Given the description of an element on the screen output the (x, y) to click on. 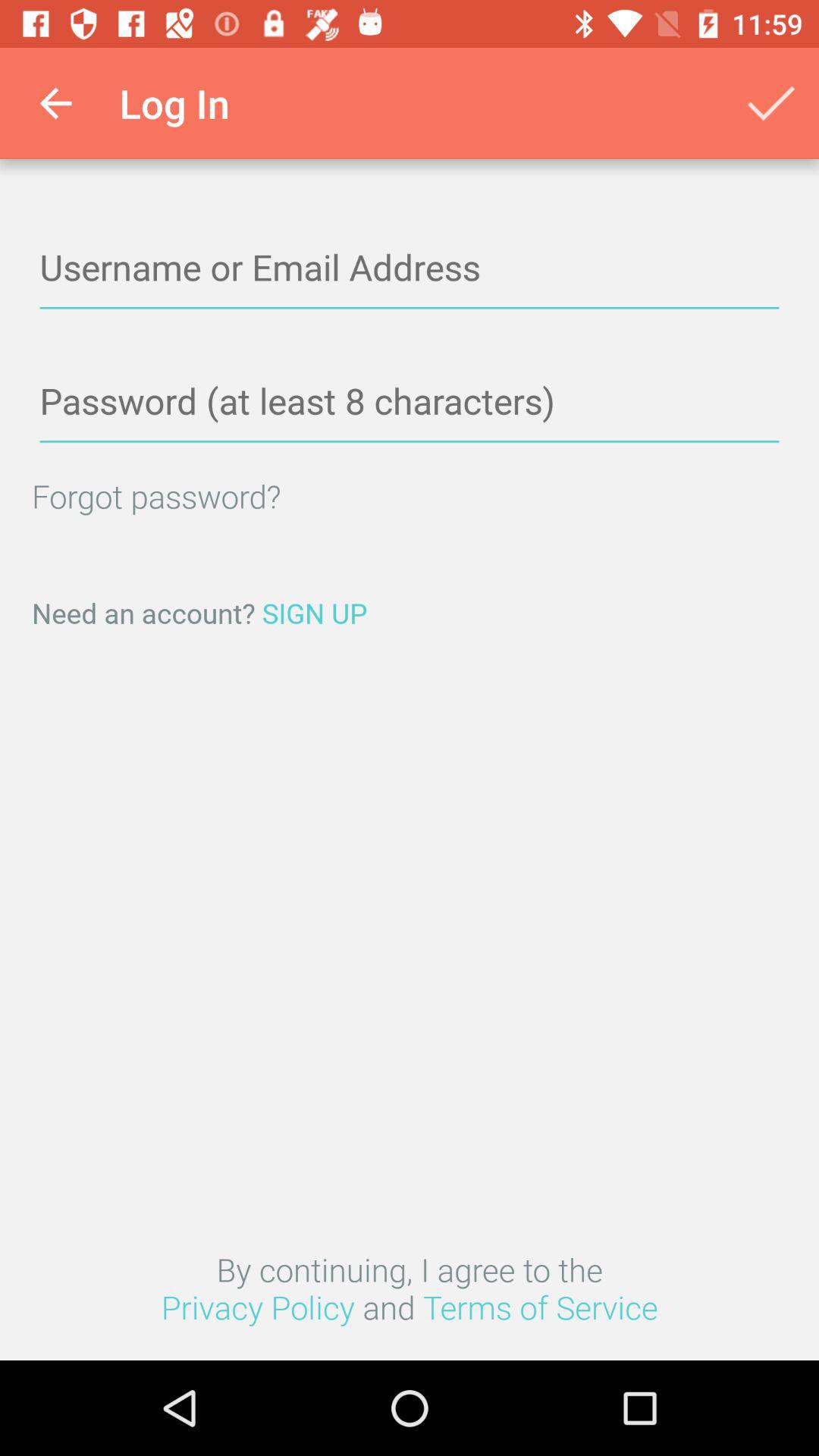
safty lock number (409, 402)
